Given the description of an element on the screen output the (x, y) to click on. 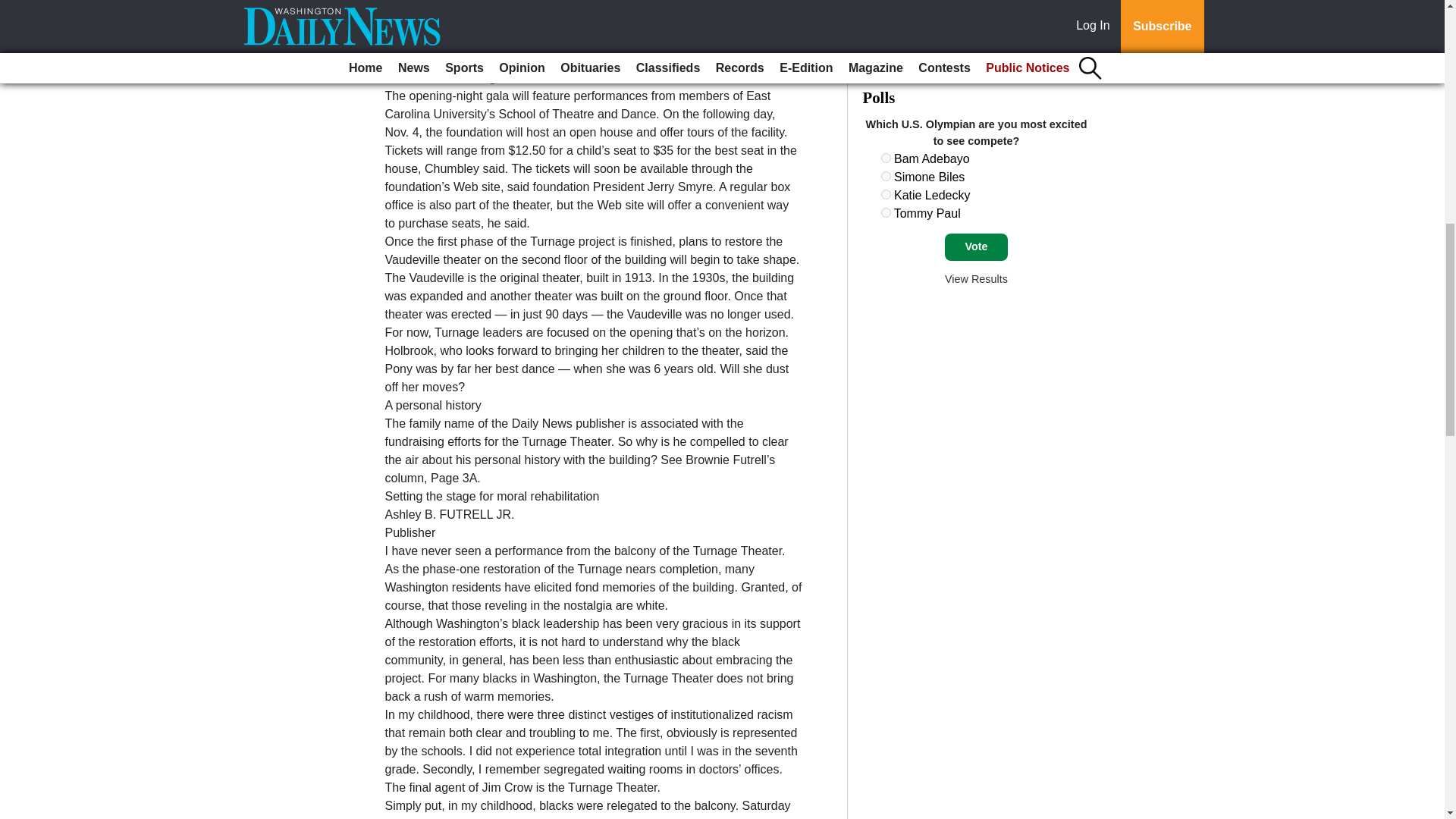
How to Watch (921, 17)
4365 (885, 157)
View Results (975, 278)
4368 (885, 212)
4366 (885, 175)
View Results Of This Poll (975, 278)
4367 (885, 194)
   Vote    (975, 247)
